Given the description of an element on the screen output the (x, y) to click on. 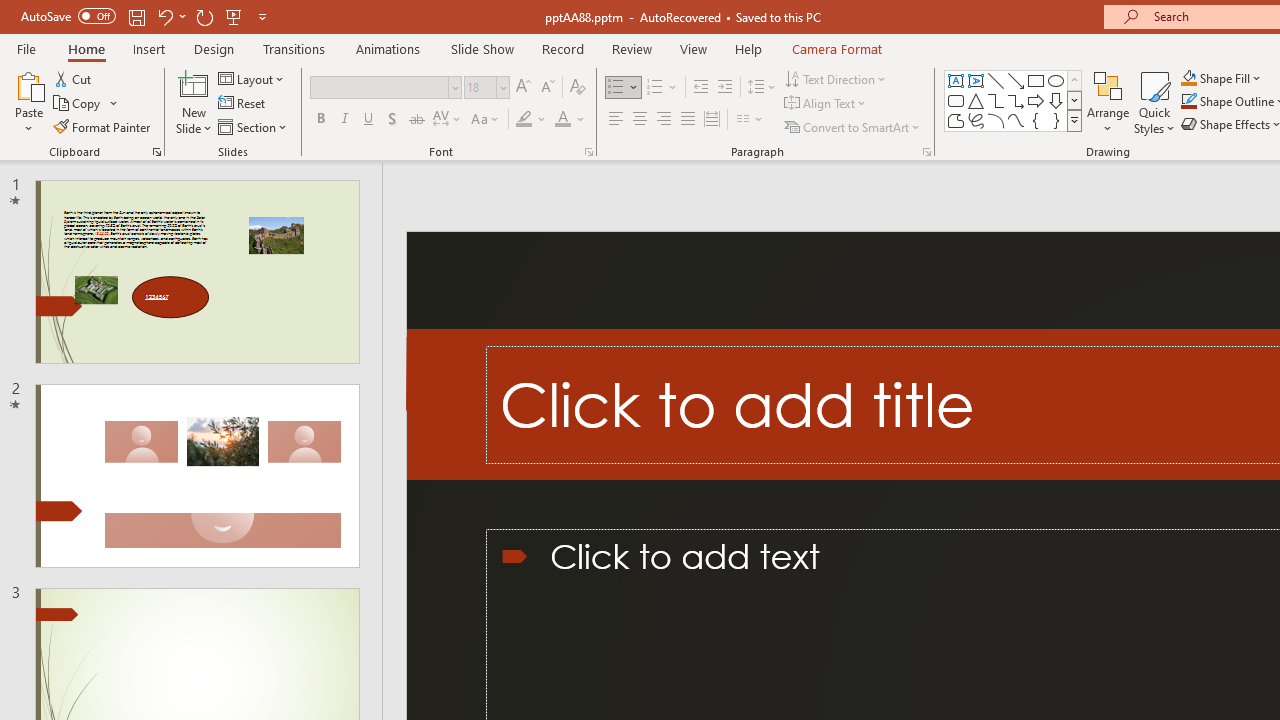
Increase Font Size (522, 87)
Justify (687, 119)
Font Size (480, 87)
Font Size (486, 87)
Font Color (569, 119)
Shadow (392, 119)
Font Color Red (562, 119)
Paste (28, 84)
Line (995, 80)
